Given the description of an element on the screen output the (x, y) to click on. 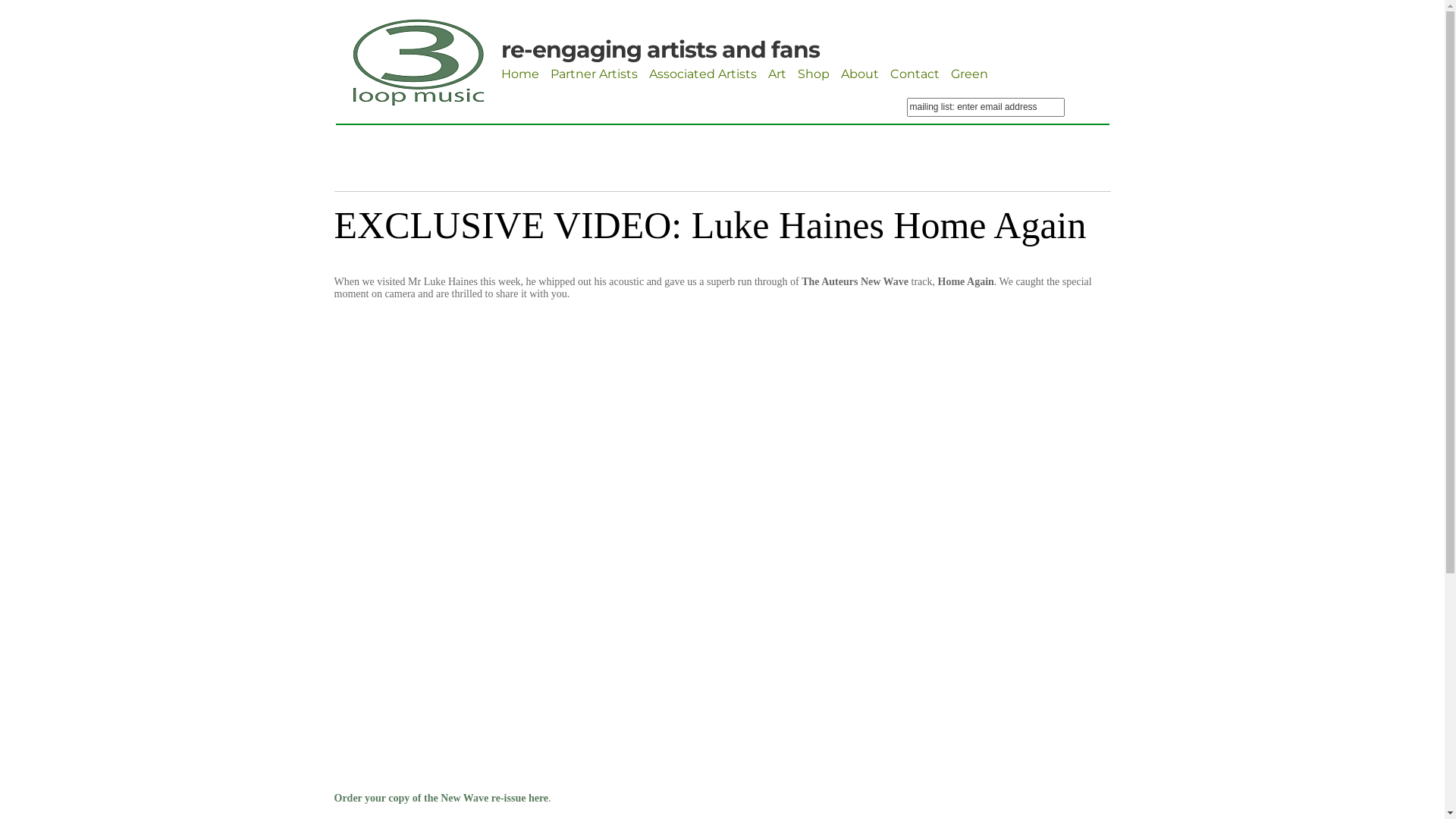
Partner Artists Element type: text (593, 73)
Home Element type: text (519, 73)
Contact Element type: text (914, 73)
Shop Element type: text (813, 73)
Order your copy of the New Wave re-issue here Element type: text (440, 797)
Green Element type: text (969, 73)
Subscribe Element type: text (937, 125)
Associated Artists Element type: text (702, 73)
Art Element type: text (776, 73)
About Element type: text (859, 73)
